Given the description of an element on the screen output the (x, y) to click on. 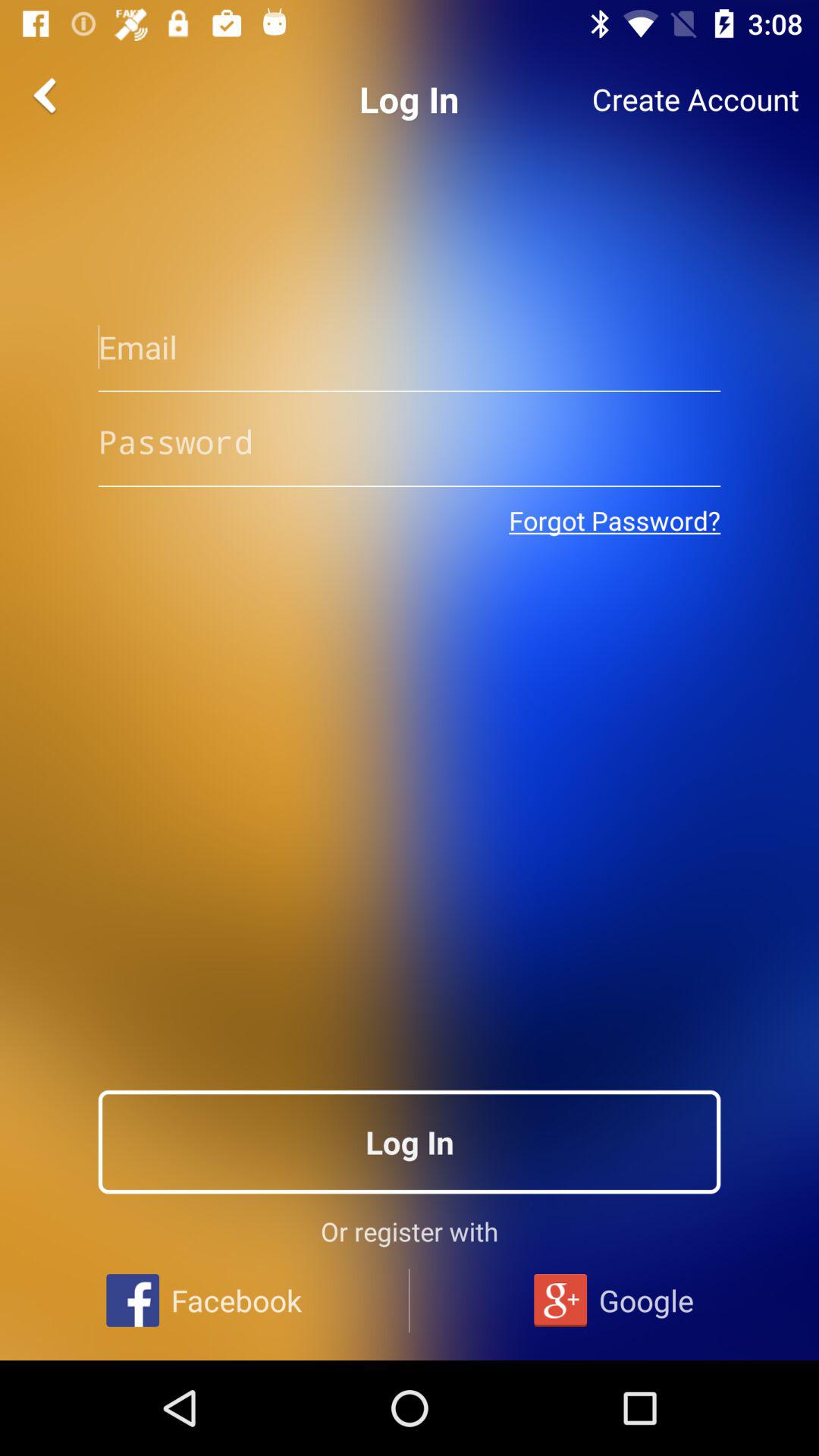
swipe to the forgot password? app (614, 520)
